Given the description of an element on the screen output the (x, y) to click on. 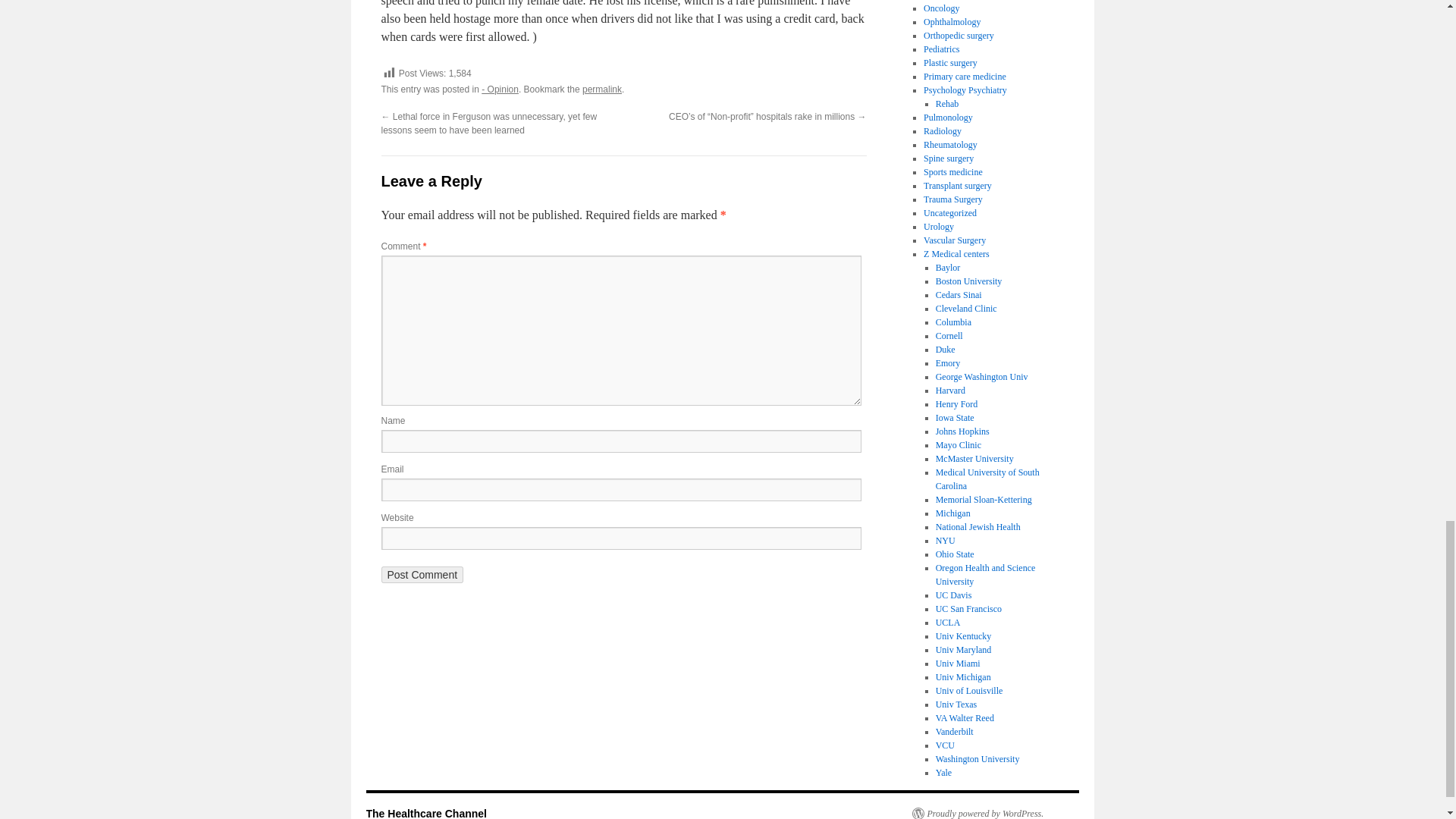
Post Comment (421, 574)
Post Comment (421, 574)
permalink (601, 89)
- Opinion (499, 89)
